Given the description of an element on the screen output the (x, y) to click on. 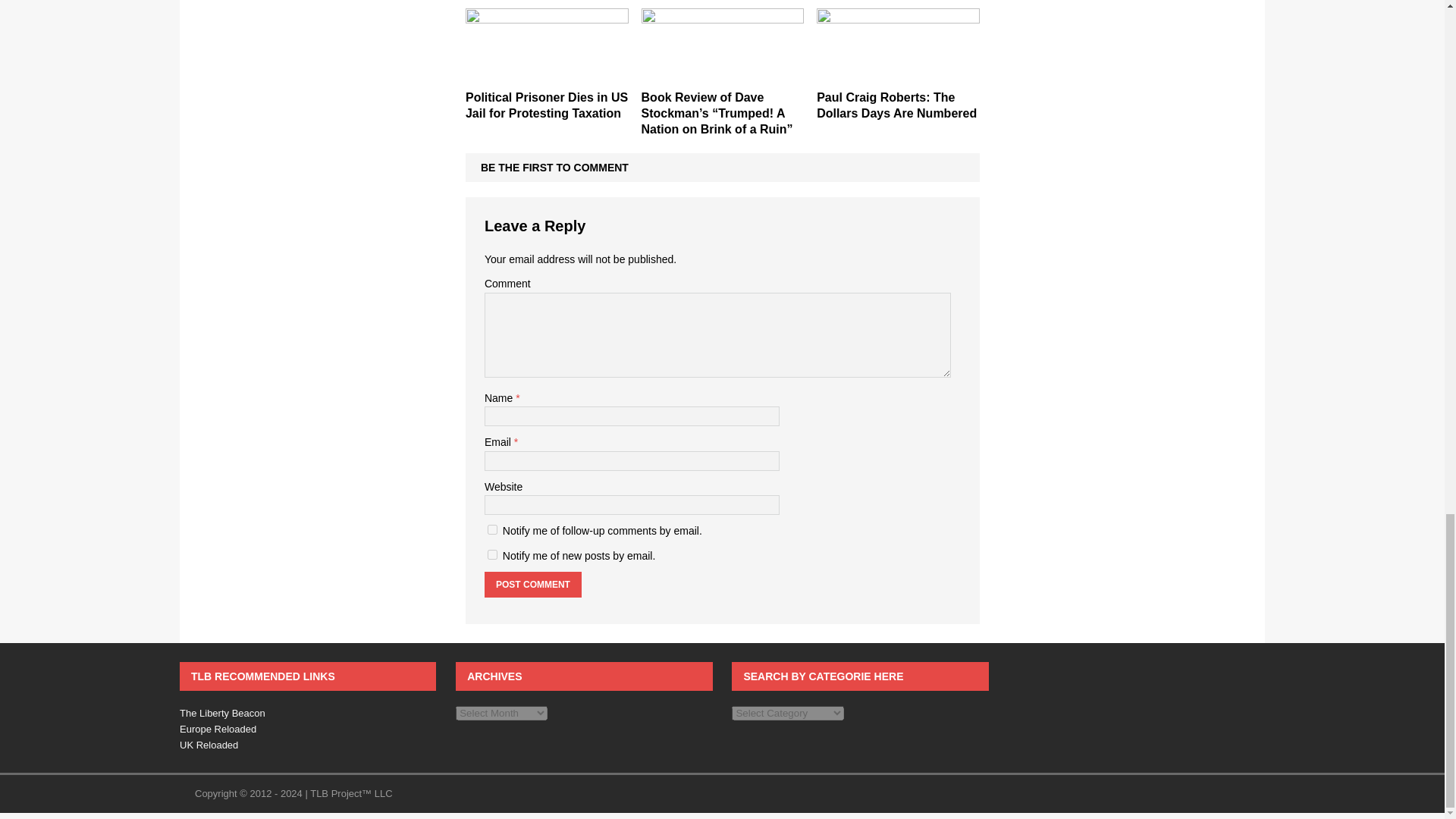
Post Comment (532, 584)
subscribe (492, 554)
subscribe (492, 529)
